Given the description of an element on the screen output the (x, y) to click on. 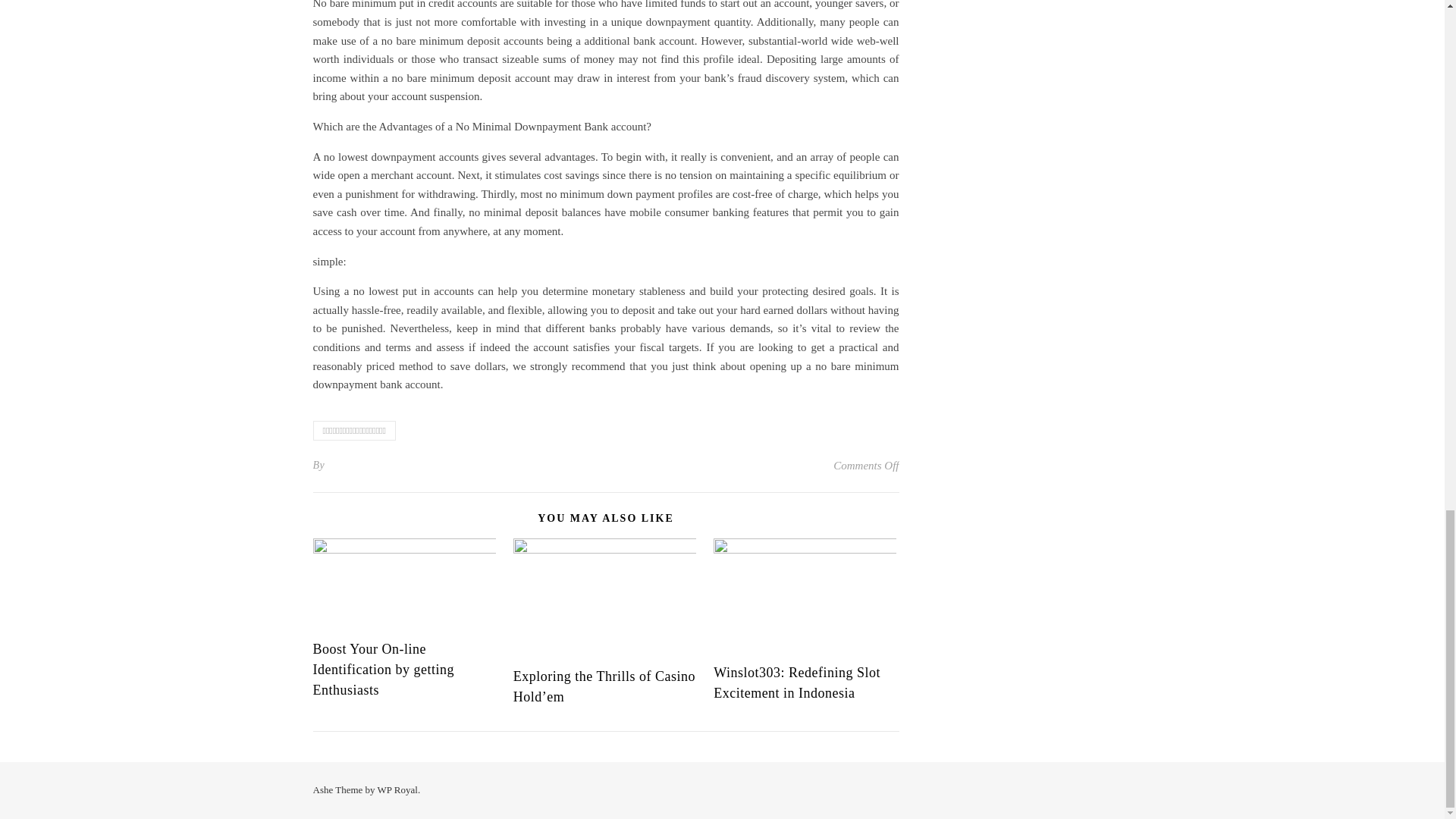
Winslot303: Redefining Slot Excitement in Indonesia (796, 683)
WP Royal (397, 789)
Boost Your On-line Identification by getting Enthusiasts (382, 669)
